Given the description of an element on the screen output the (x, y) to click on. 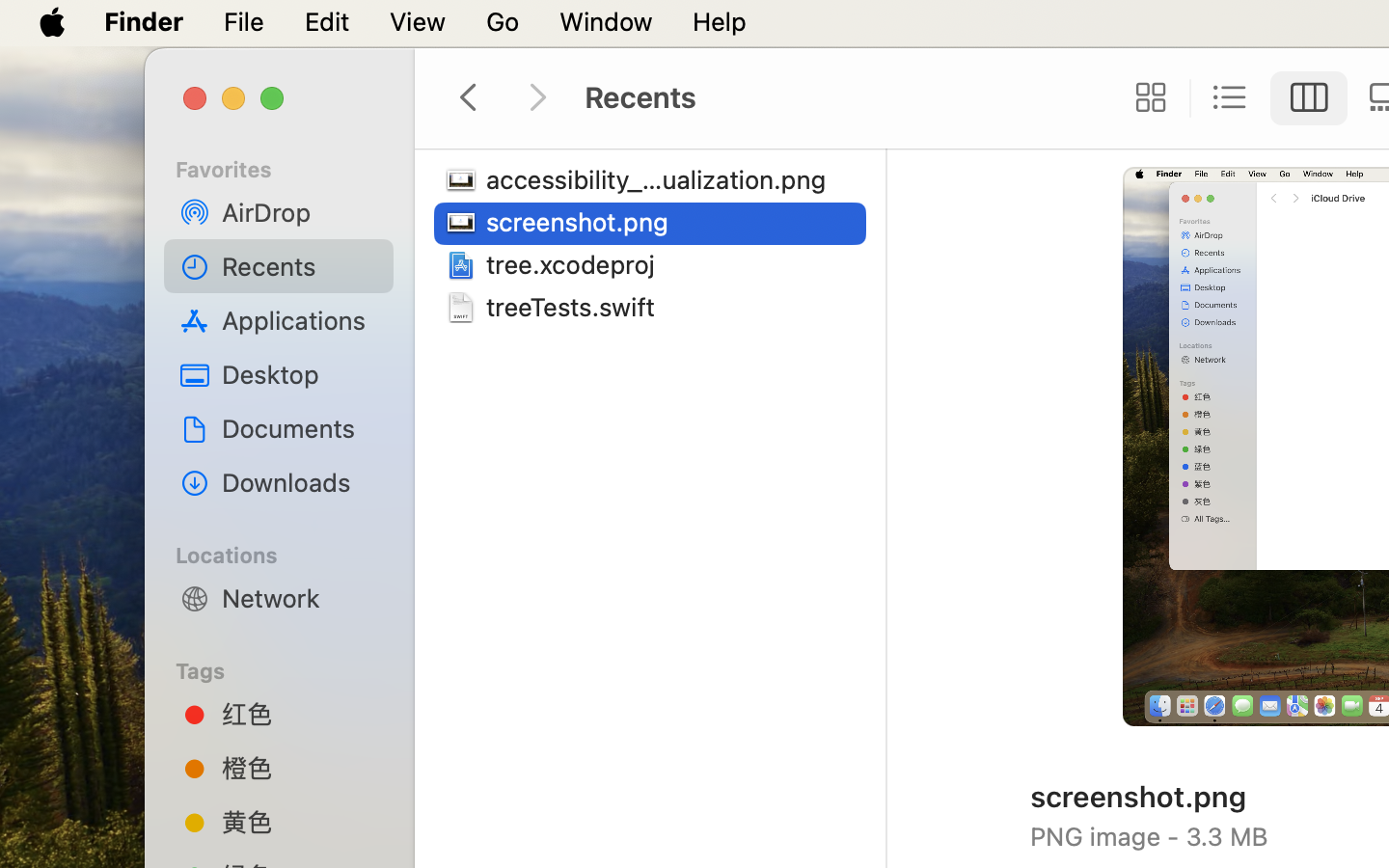
黄色 Element type: AXStaticText (299, 821)
橙色 Element type: AXStaticText (299, 767)
红色 Element type: AXStaticText (299, 713)
Downloads Element type: AXStaticText (299, 481)
screenshot.png Element type: AXTextField (581, 221)
